Given the description of an element on the screen output the (x, y) to click on. 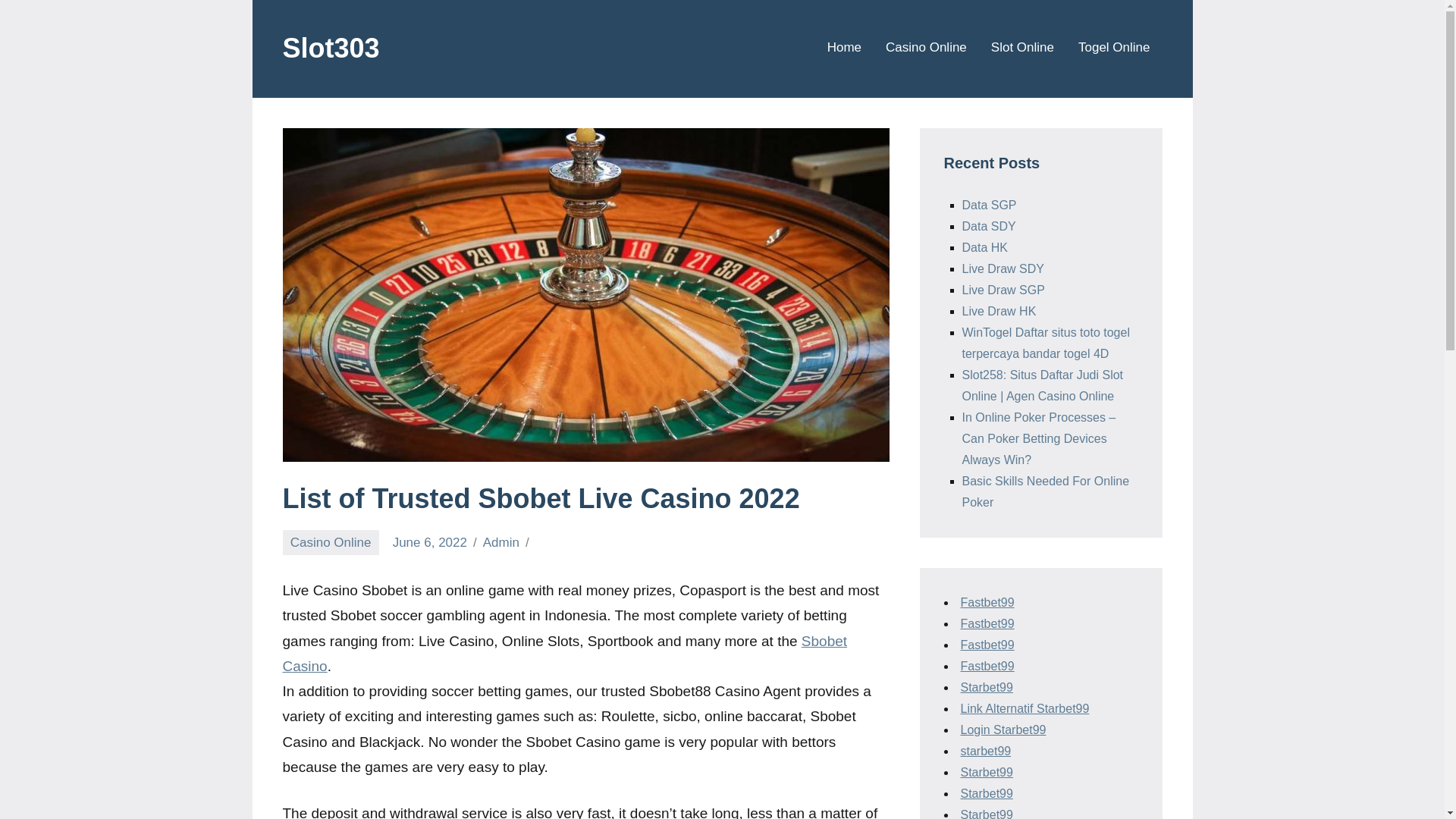
Link Alternatif Starbet99 (1024, 707)
Casino Online (330, 542)
Starbet99 (985, 686)
starbet99 (984, 750)
Slot303 (330, 47)
Starbet99 (985, 793)
Sbobet Casino (564, 653)
Fastbet99 (986, 602)
Fastbet99 (986, 666)
Live Draw SGP (1001, 289)
